Given the description of an element on the screen output the (x, y) to click on. 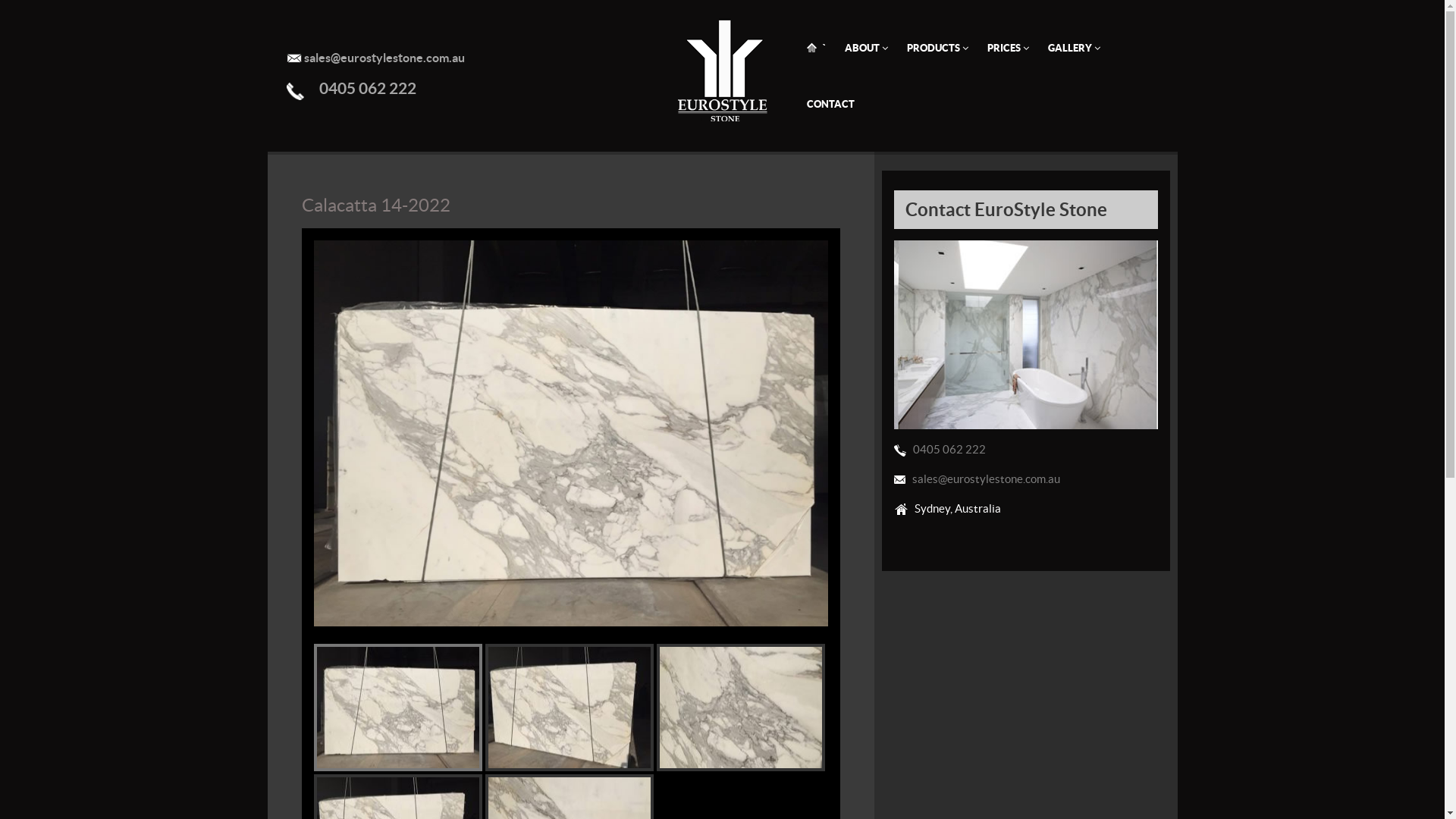
Click to enlarge image sydneycalacatta14-20222.jpg Element type: hover (569, 707)
Euro Style Stone - Home Page Element type: hover (722, 69)
CONTACT Element type: text (830, 103)
ABOUT Element type: text (866, 47)
PRODUCTS Element type: text (937, 47)
Click to enlarge image sydneycalacatta14-20223.jpg Element type: hover (740, 707)
Click to enlarge image sydneycalacatta14-20221.jpg Element type: hover (397, 707)
sales@eurostylestone.com.au Element type: text (382, 57)
` Element type: text (816, 47)
sales@eurostylestone.com.au Element type: text (985, 478)
0405 062 222 Element type: text (949, 448)
PRICES Element type: text (1007, 47)
GALLERY Element type: text (1073, 47)
0405 062 222 Element type: text (366, 87)
Calacatta 14-2022 Element type: text (375, 204)
